Given the description of an element on the screen output the (x, y) to click on. 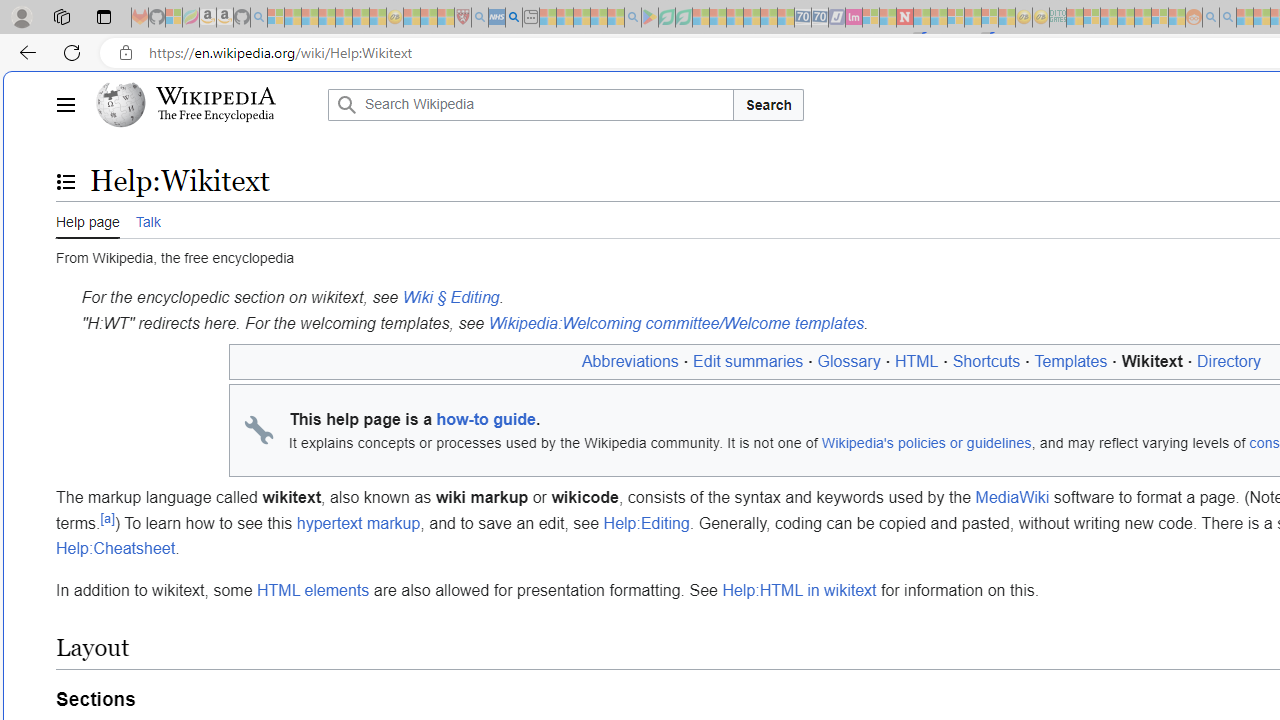
Talk (147, 219)
MSNBC - MSN - Sleeping (1074, 17)
Trusted Community Engagement and Contributions | Guidelines (921, 17)
